Given the description of an element on the screen output the (x, y) to click on. 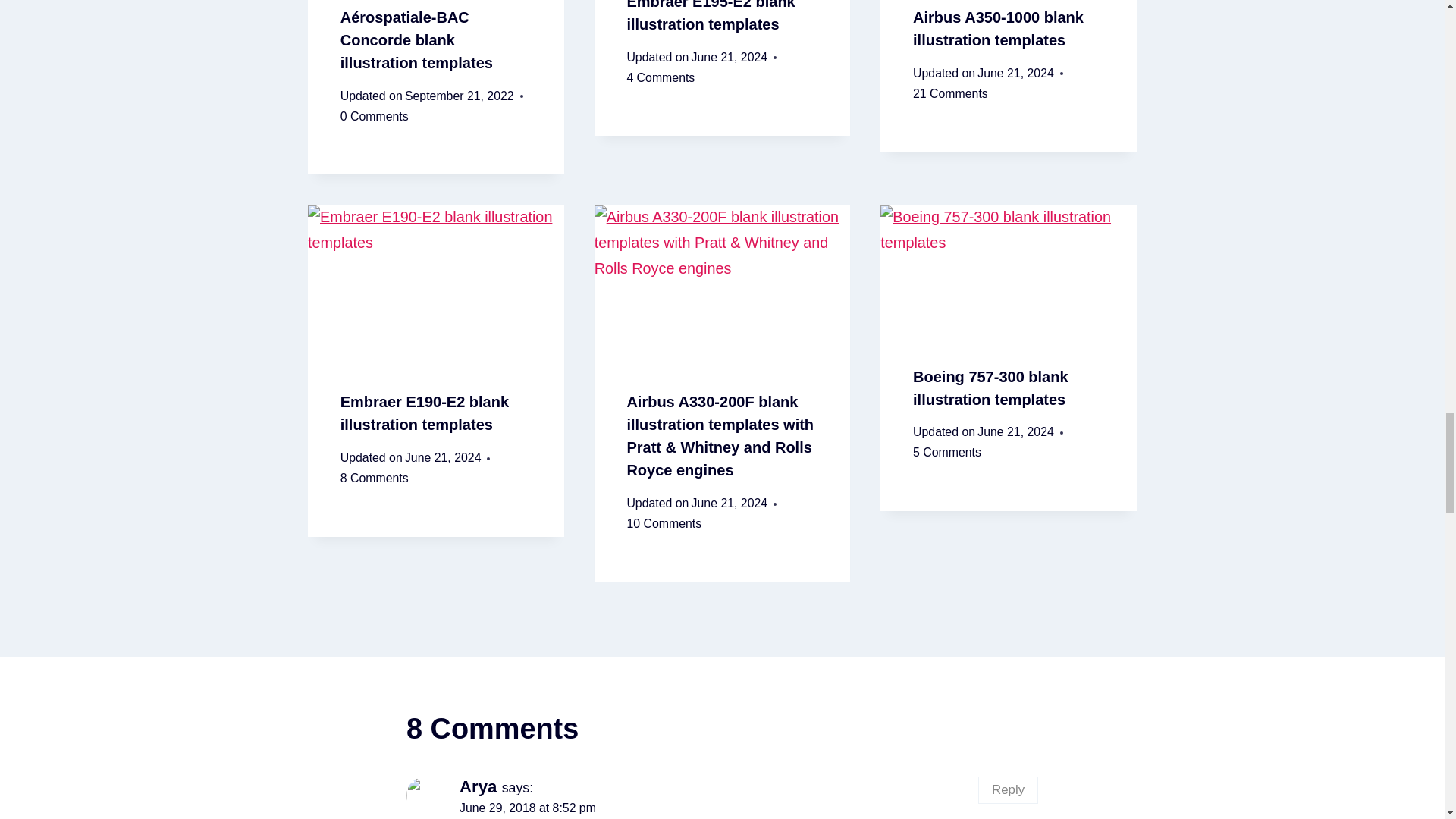
10 Comments (663, 524)
0 Comments (374, 117)
Airbus A350-1000 blank illustration templates (997, 28)
4 Comments (660, 77)
8 Comments (374, 478)
4 Comments (660, 77)
0 Comments (374, 117)
21 Comments (950, 94)
21 Comments (950, 94)
5 Comments (946, 453)
